Given the description of an element on the screen output the (x, y) to click on. 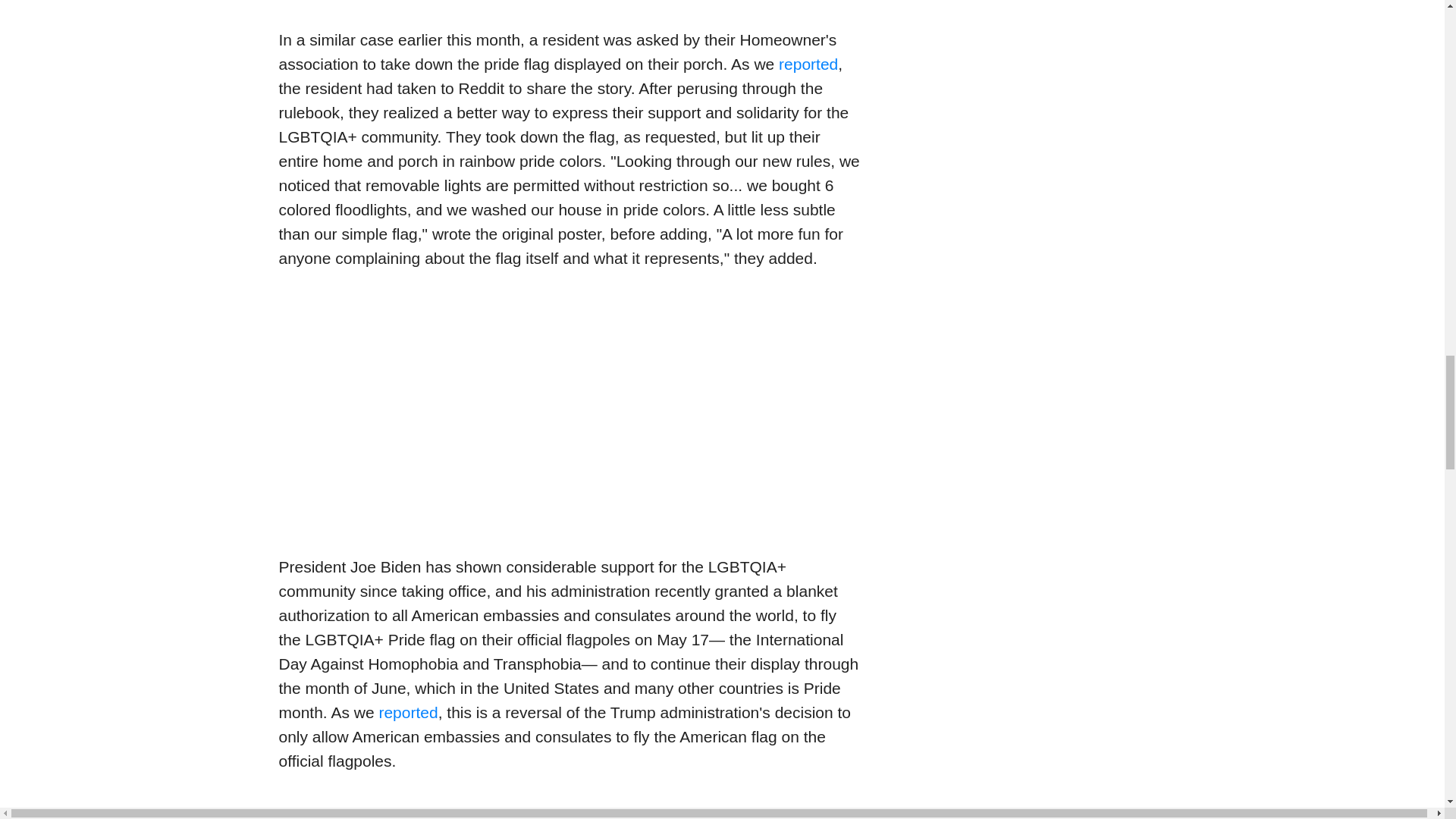
reported (408, 712)
reported (808, 63)
YouTube video player (571, 807)
